Given the description of an element on the screen output the (x, y) to click on. 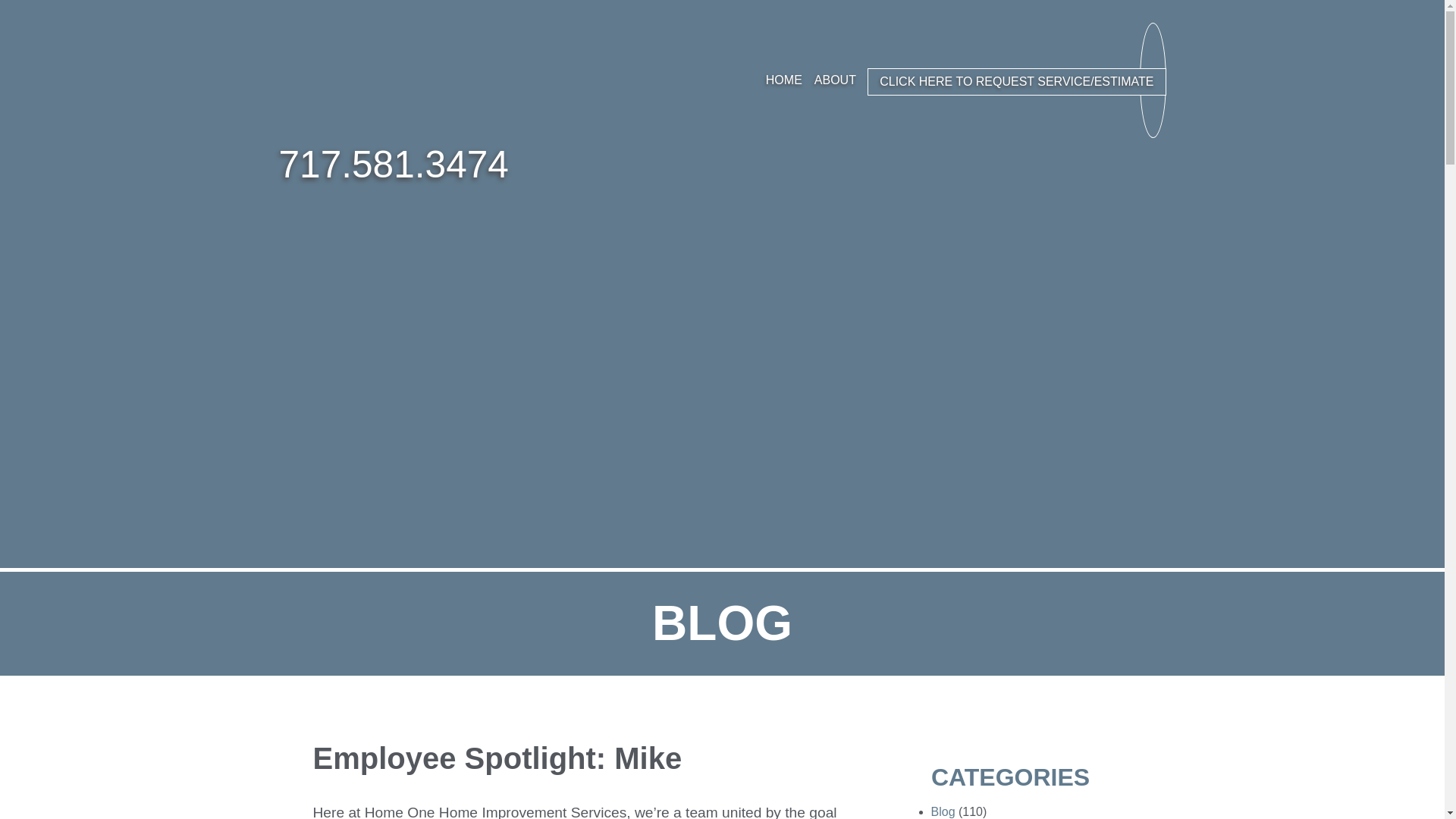
PROJECTS (973, 80)
BLOG (1034, 80)
ABOUT (834, 80)
Blog (943, 811)
SERVICES (898, 80)
717.581.3474 (393, 164)
CONTACT (1092, 80)
HOME (784, 80)
